Given the description of an element on the screen output the (x, y) to click on. 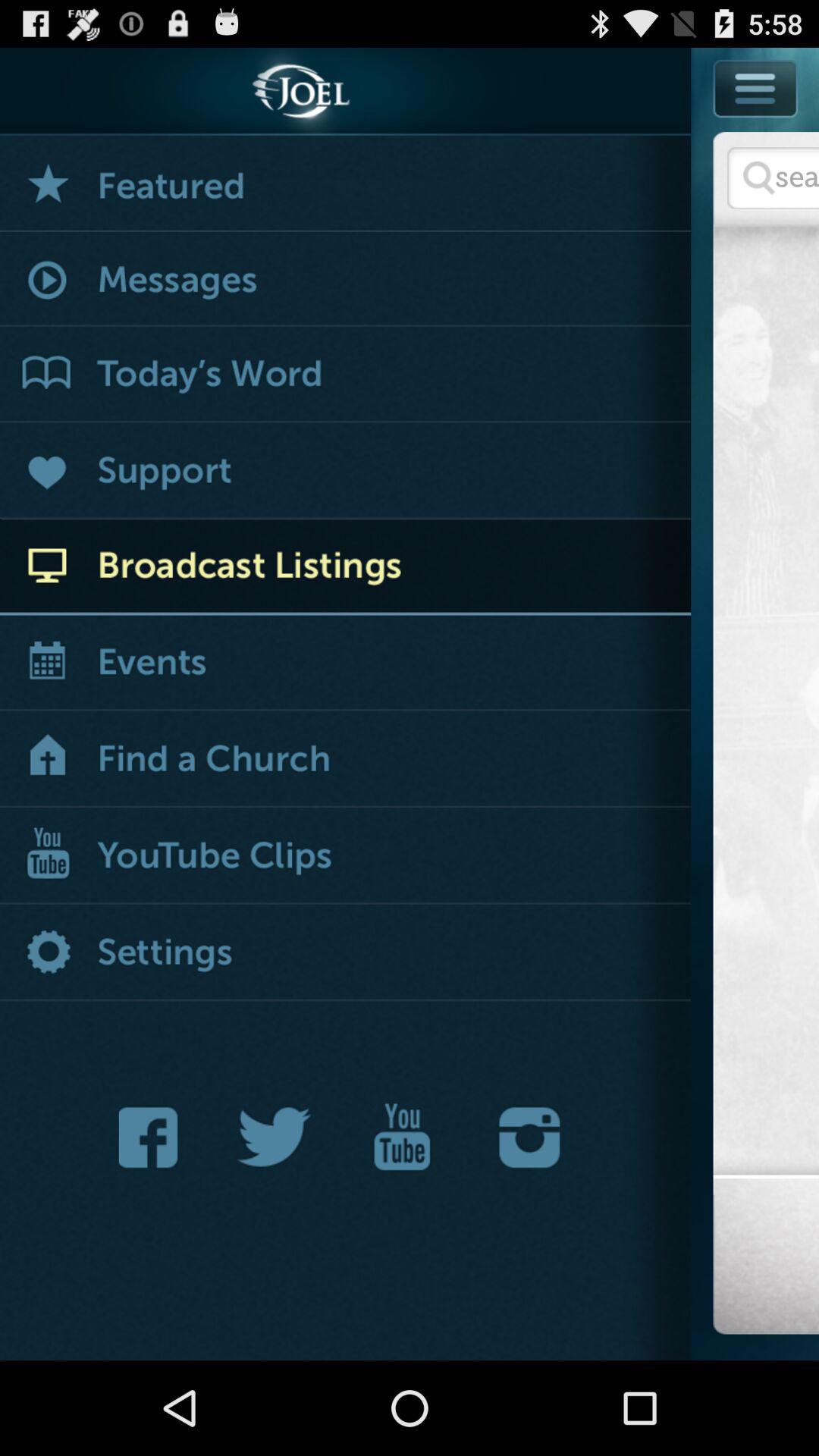
view messages (345, 280)
